Given the description of an element on the screen output the (x, y) to click on. 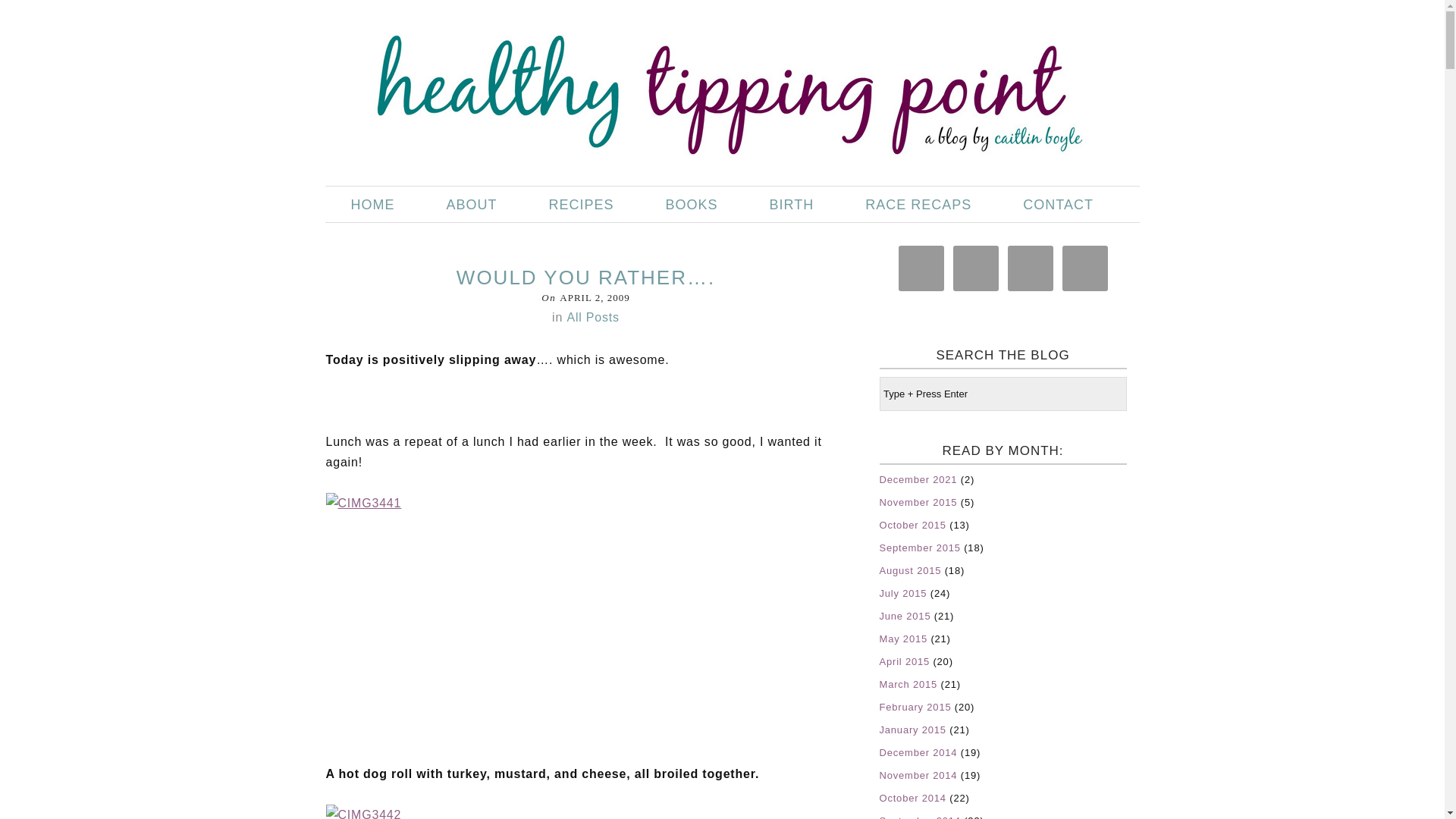
2009-04-02 (593, 297)
ABOUT (471, 204)
December 2021 (918, 479)
CONTACT (1058, 204)
BIRTH (792, 204)
click to return home (721, 88)
November 2015 (918, 501)
HOME (372, 204)
All Posts (592, 317)
RACE RECAPS (918, 204)
RECIPES (581, 204)
BOOKS (692, 204)
